Given the description of an element on the screen output the (x, y) to click on. 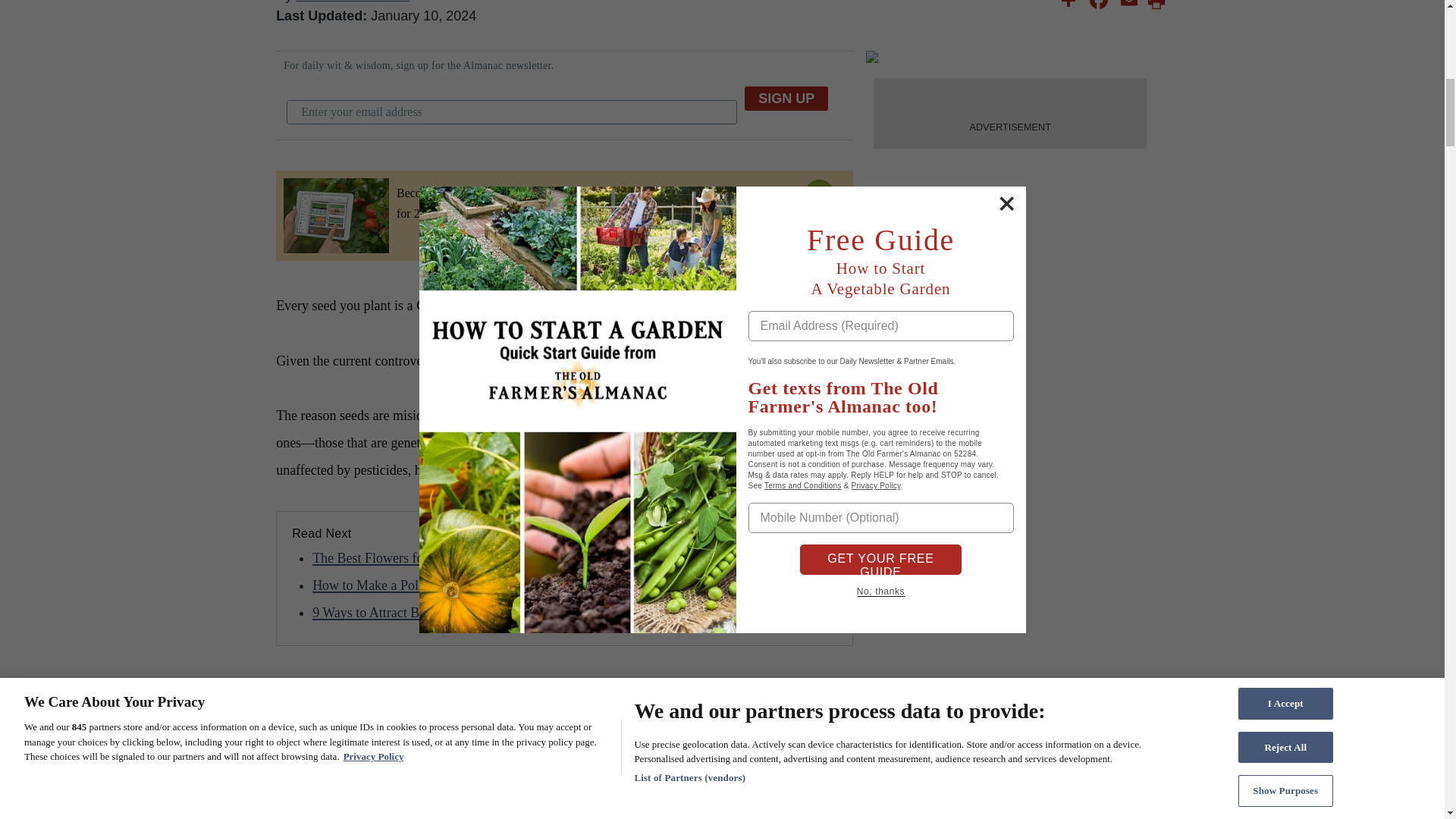
Printer Friendly and PDF (1156, 6)
Sign Up (786, 98)
